Given the description of an element on the screen output the (x, y) to click on. 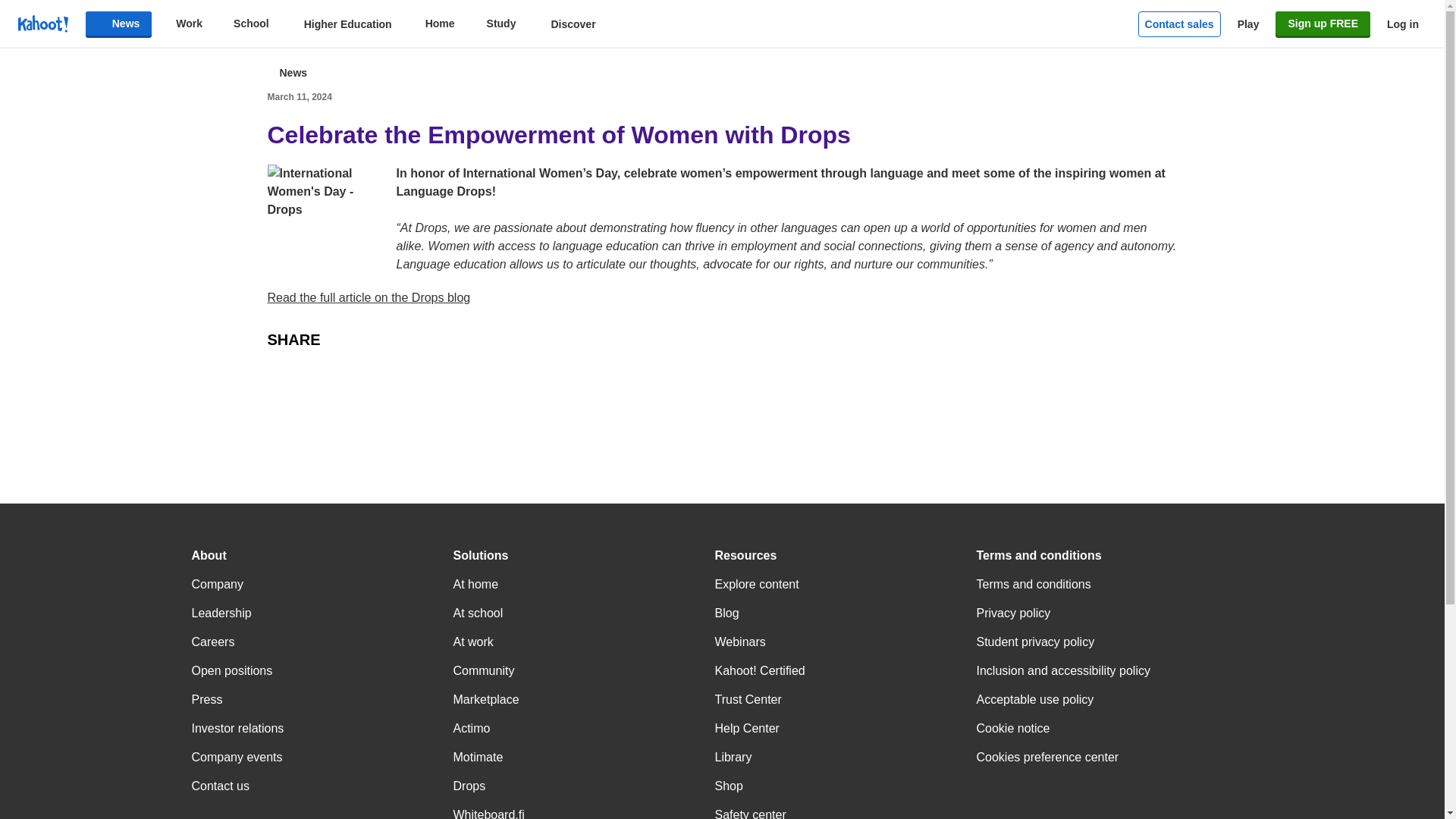
News (118, 23)
Higher Education (337, 23)
Link to kahoot.com homepage (42, 24)
Log in (1402, 24)
Contact sales (1179, 23)
Sign up FREE (1322, 23)
Home (431, 23)
Work (181, 23)
School (243, 23)
